Given the description of an element on the screen output the (x, y) to click on. 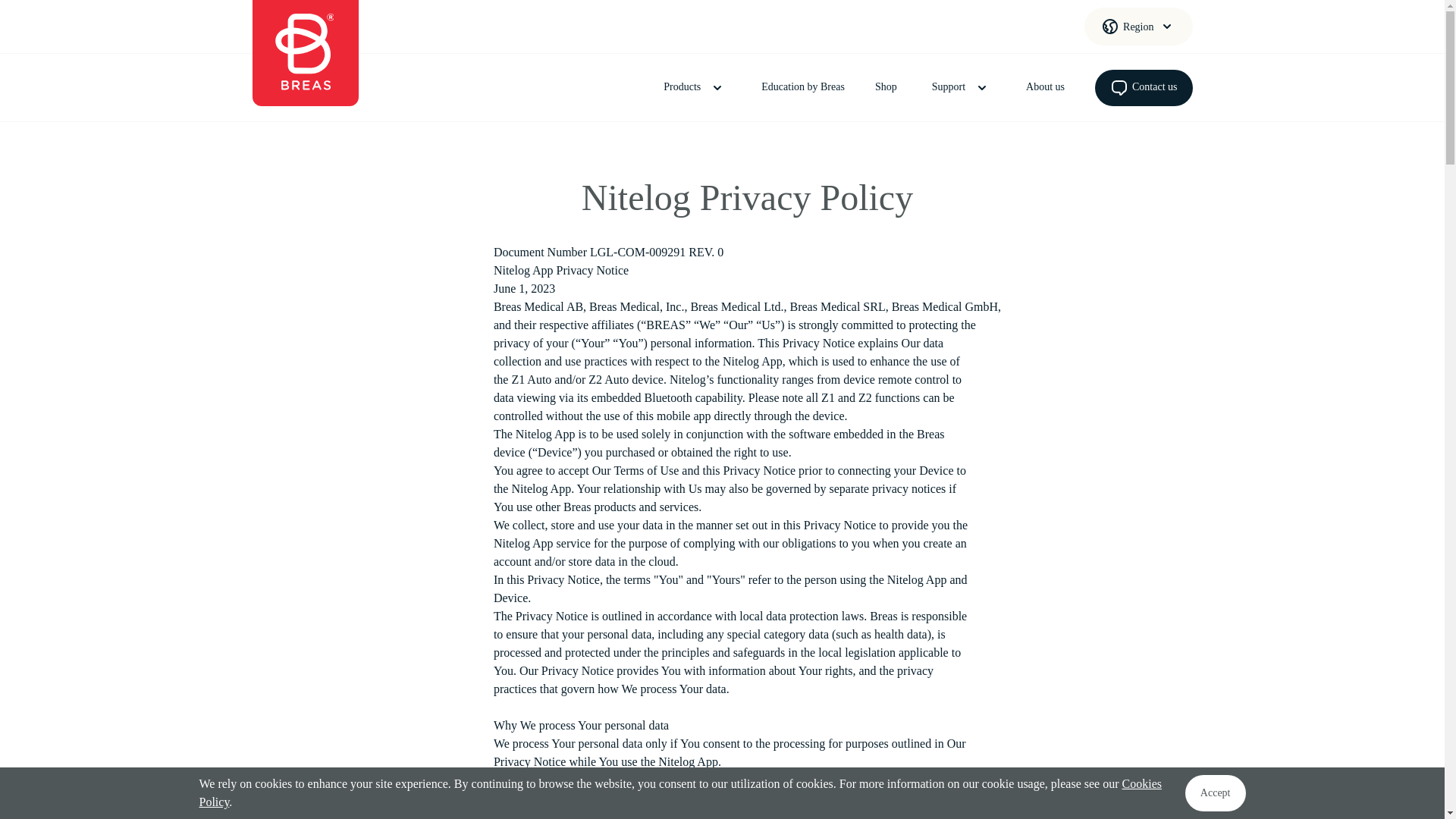
About us (1045, 87)
Accept (1215, 792)
Products (694, 86)
Education by Breas (802, 87)
Region (1137, 26)
Support (961, 86)
Shop (885, 87)
Cookies Policy (679, 792)
Contact us (1143, 87)
